Given the description of an element on the screen output the (x, y) to click on. 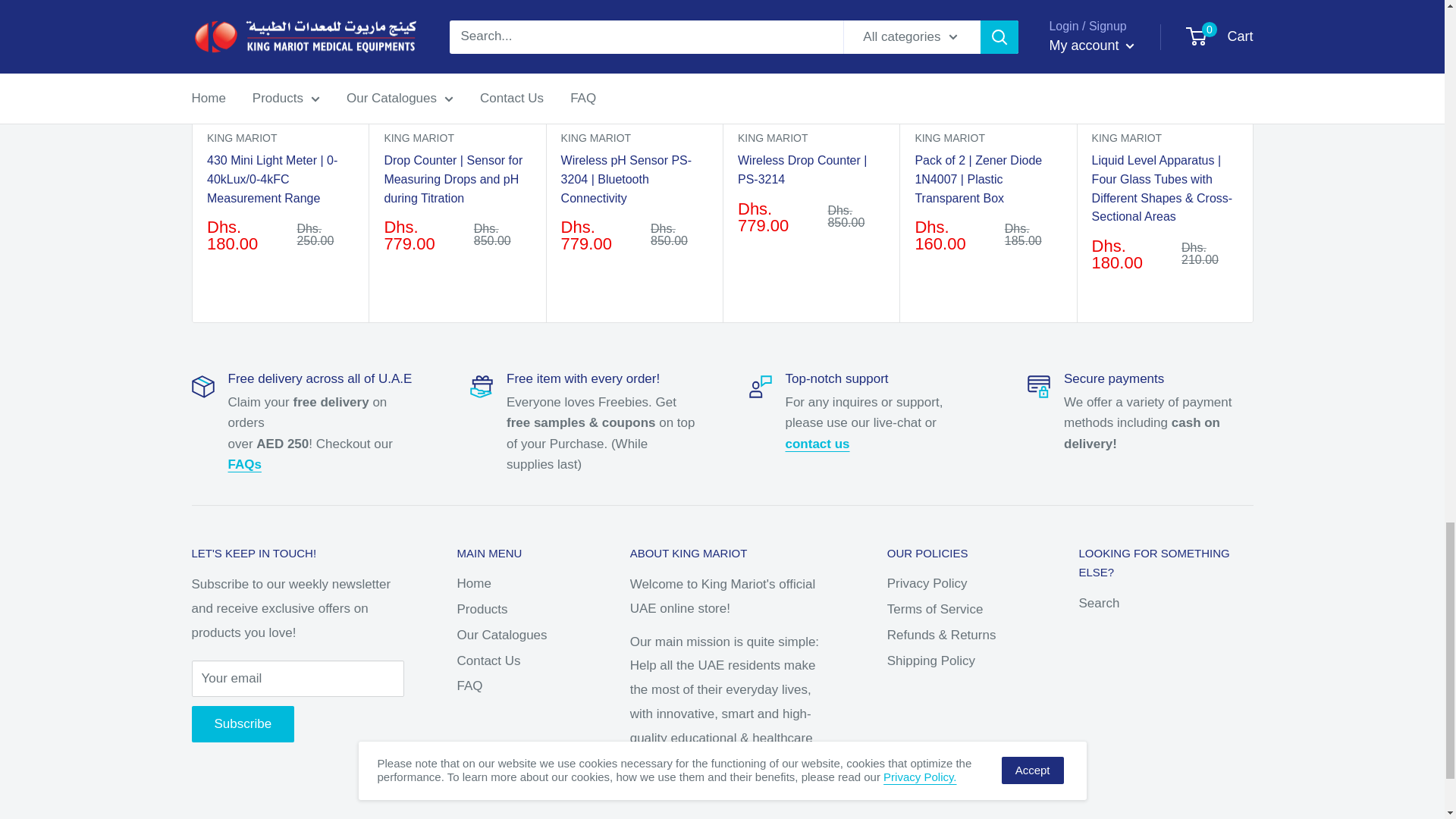
Frequently Asked Questions (243, 464)
Contact us (818, 443)
